Given the description of an element on the screen output the (x, y) to click on. 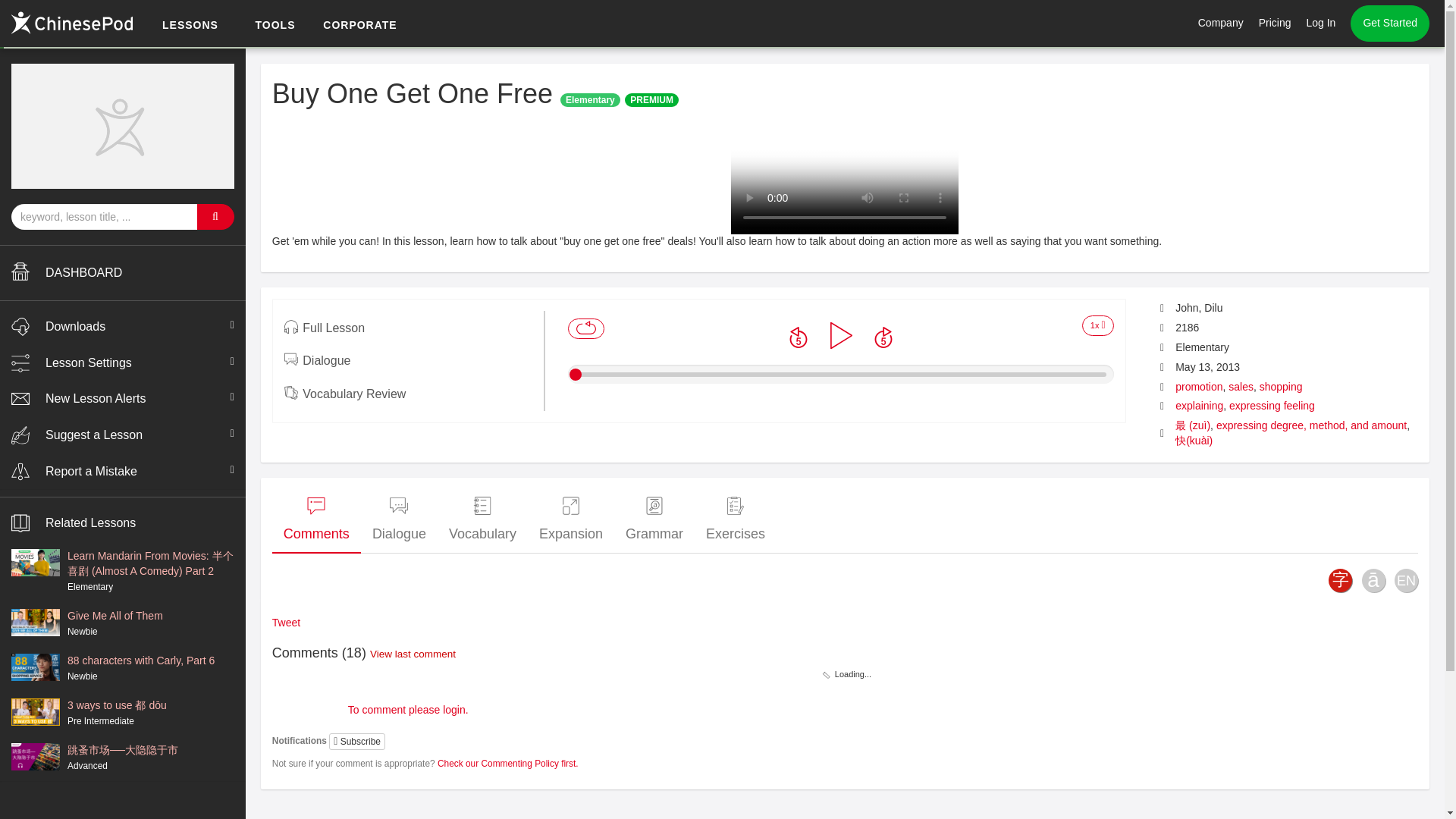
CORPORATE (359, 25)
LESSONS (189, 25)
Vocabulary (482, 520)
Increase Rate (1097, 325)
Company (1220, 23)
Exercises (735, 520)
Subscribe Now! (1264, 23)
Dialogue (399, 520)
Comments (316, 520)
Loop (585, 328)
